Given the description of an element on the screen output the (x, y) to click on. 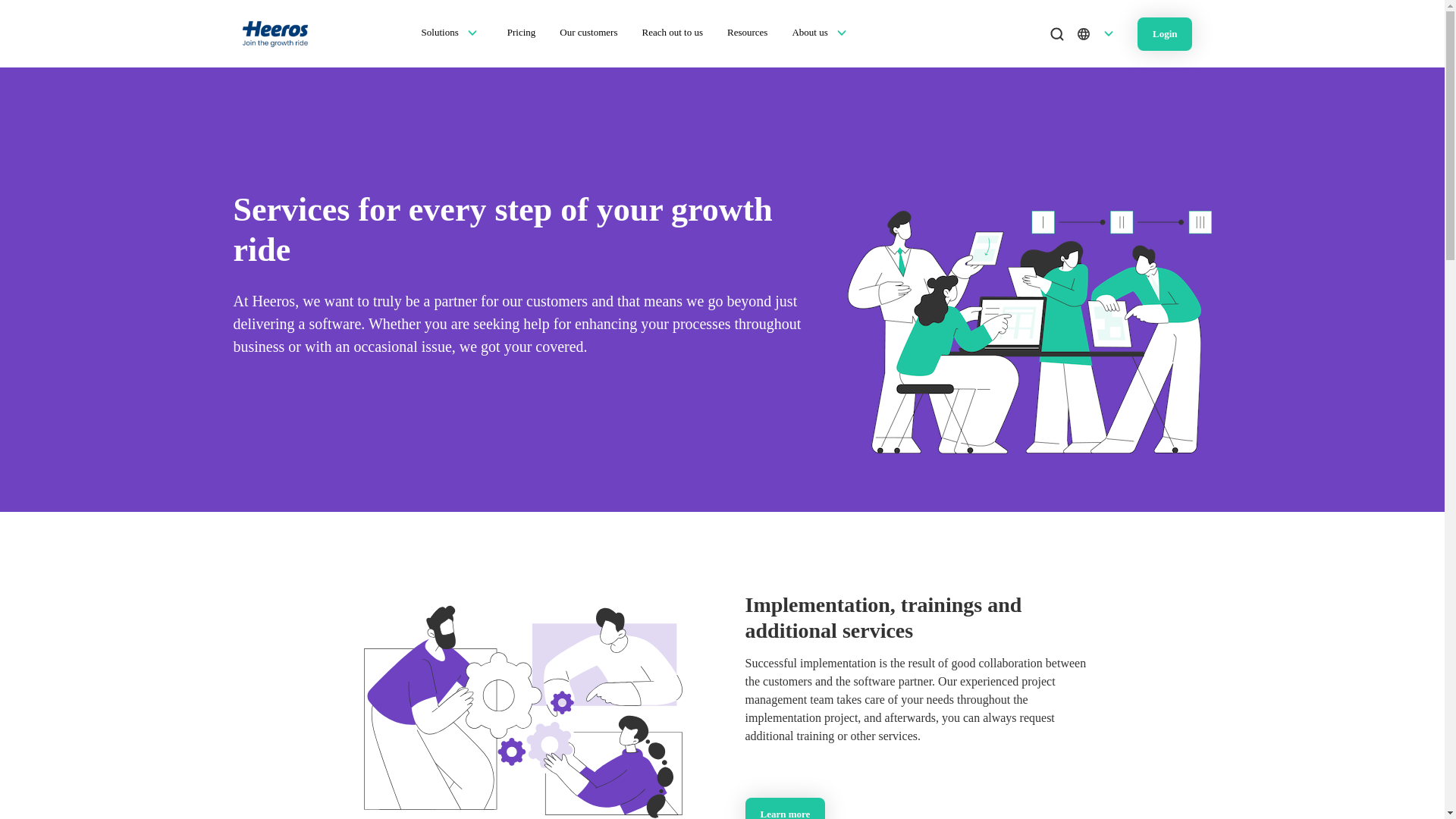
Resources (746, 31)
About us (809, 31)
Reach out to us (672, 31)
Our customers (588, 31)
Pricing (520, 31)
Solutions (440, 31)
